Given the description of an element on the screen output the (x, y) to click on. 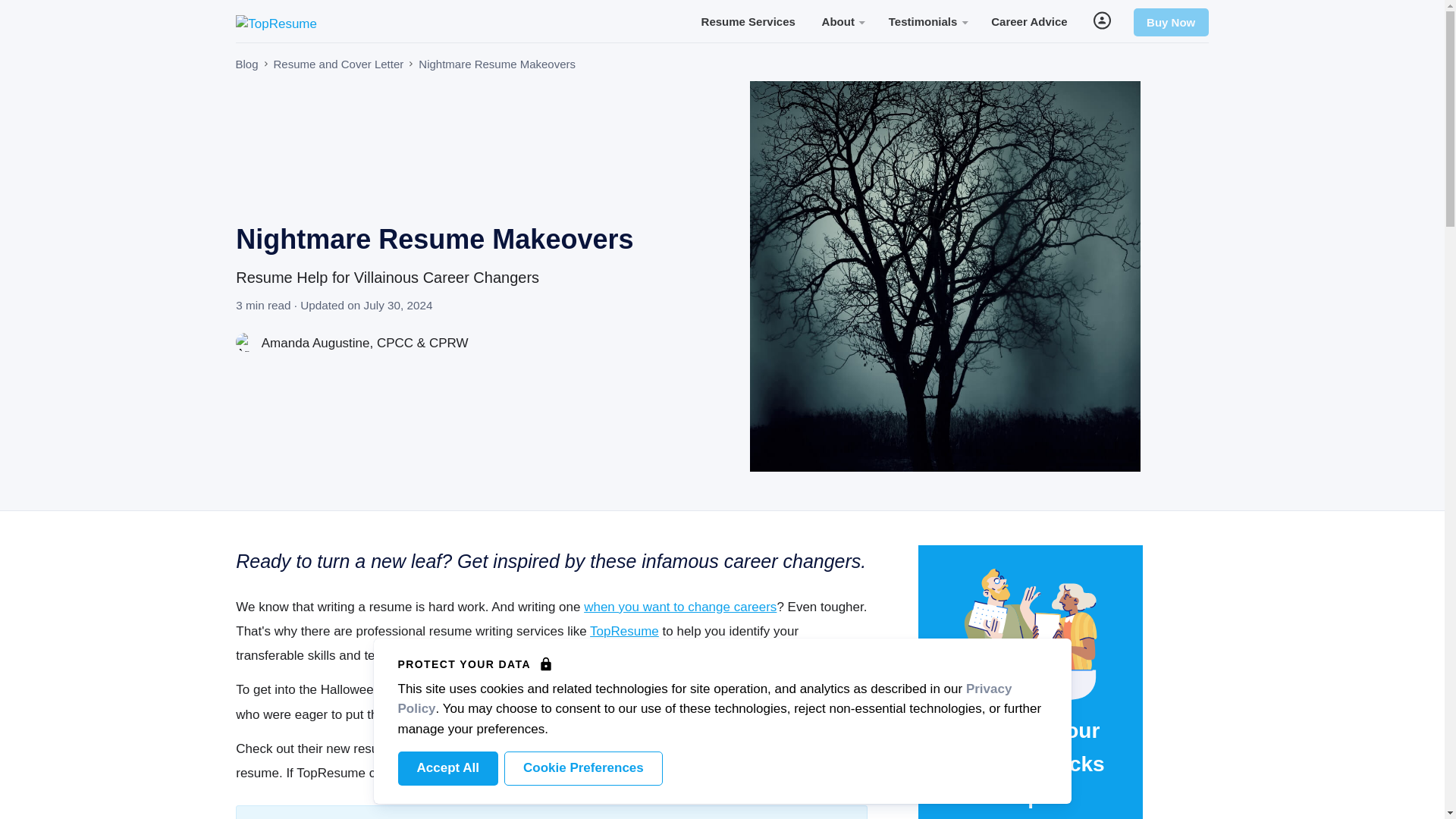
Testimonials (926, 20)
TopResume (624, 631)
when you want to change careers (679, 606)
Privacy Policy (704, 698)
Resume Services (748, 20)
Career Advice (1028, 20)
Cookie Preferences (582, 768)
Blog (245, 63)
About (841, 20)
Accept All (447, 768)
